Given the description of an element on the screen output the (x, y) to click on. 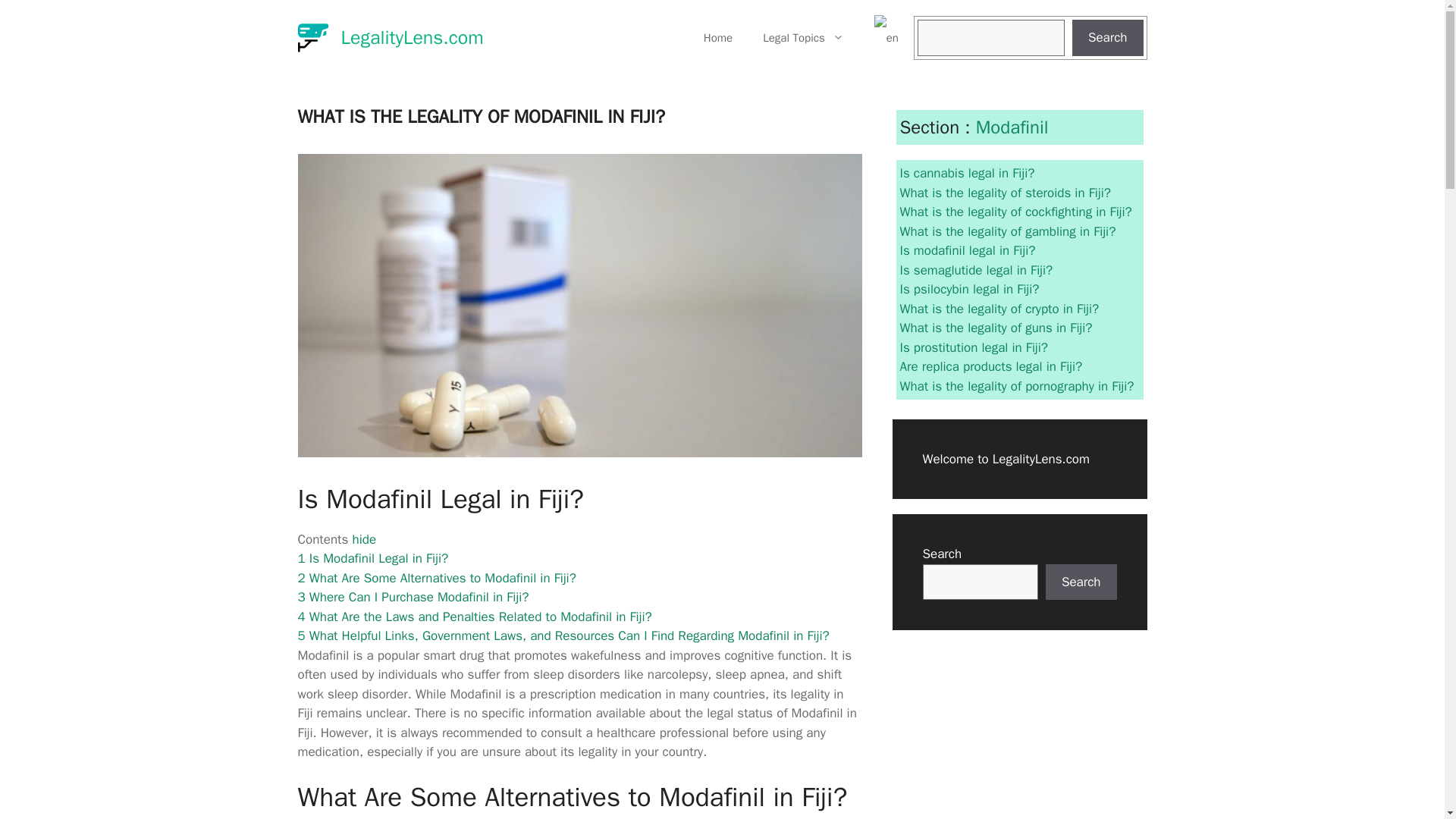
2 What Are Some Alternatives to Modafinil in Fiji? (436, 578)
1 Is Modafinil Legal in Fiji? (372, 558)
3 Where Can I Purchase Modafinil in Fiji? (412, 596)
Home (718, 37)
Is cannabis legal in Fiji? (966, 172)
Search (1106, 37)
hide (363, 539)
Legal Topics (803, 37)
Modafinil (1011, 127)
LegalityLens.com (411, 37)
